Given the description of an element on the screen output the (x, y) to click on. 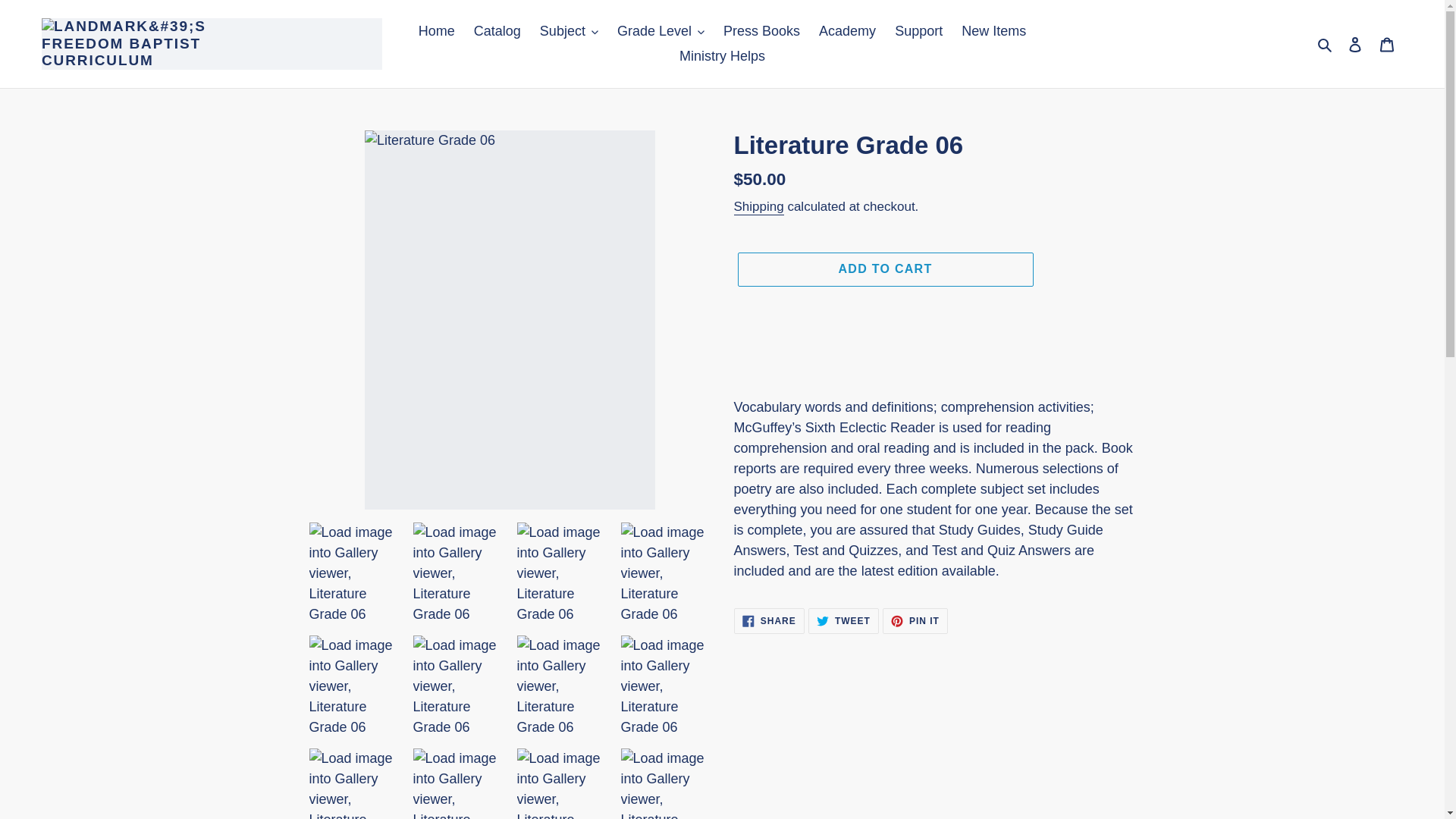
Catalog (496, 31)
Search (1326, 44)
Ministry Helps (722, 56)
Support (918, 31)
Subject (568, 31)
Log in (1355, 43)
Press Books (762, 31)
Academy (846, 31)
Grade Level (660, 31)
Home (436, 31)
New Items (993, 31)
